Given the description of an element on the screen output the (x, y) to click on. 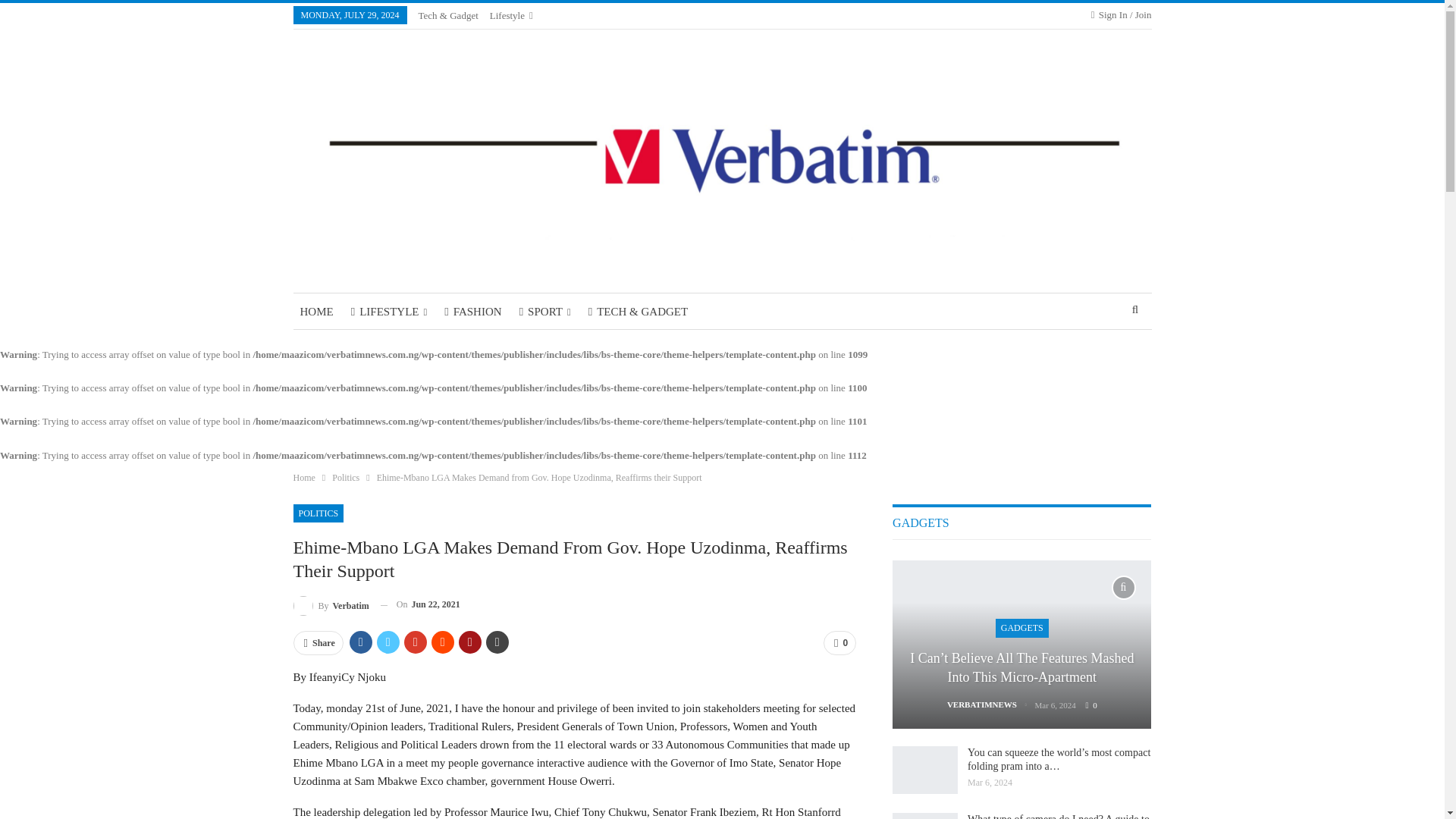
LIFESTYLE (388, 311)
FASHION (473, 311)
Lifestyle (510, 15)
HOME (315, 311)
Browse Author Articles (330, 604)
SPORT (545, 311)
